Given the description of an element on the screen output the (x, y) to click on. 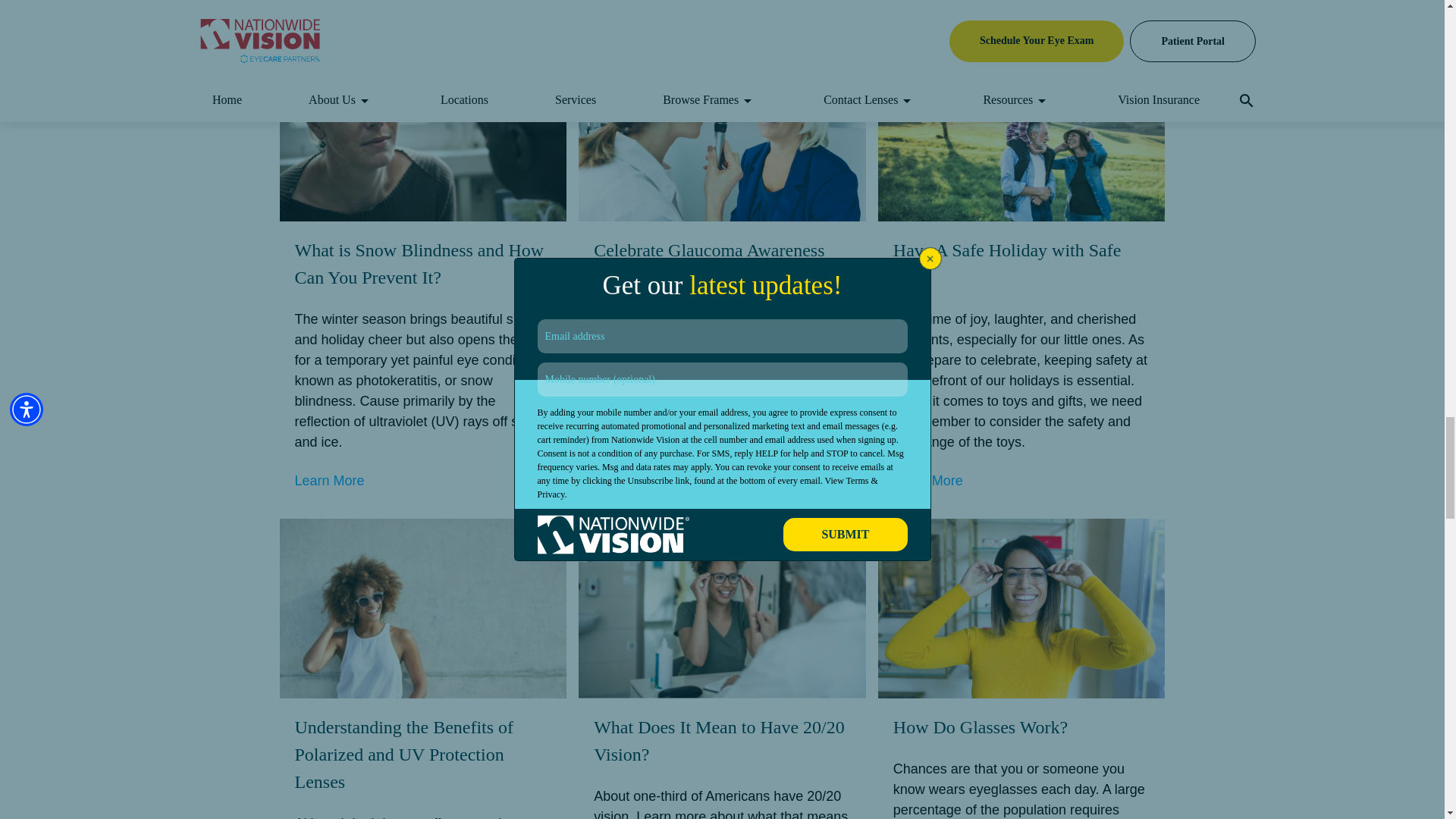
Learn More (628, 459)
Learn More (927, 6)
Learn More (329, 6)
Learn More (927, 480)
Learn More (329, 480)
